Given the description of an element on the screen output the (x, y) to click on. 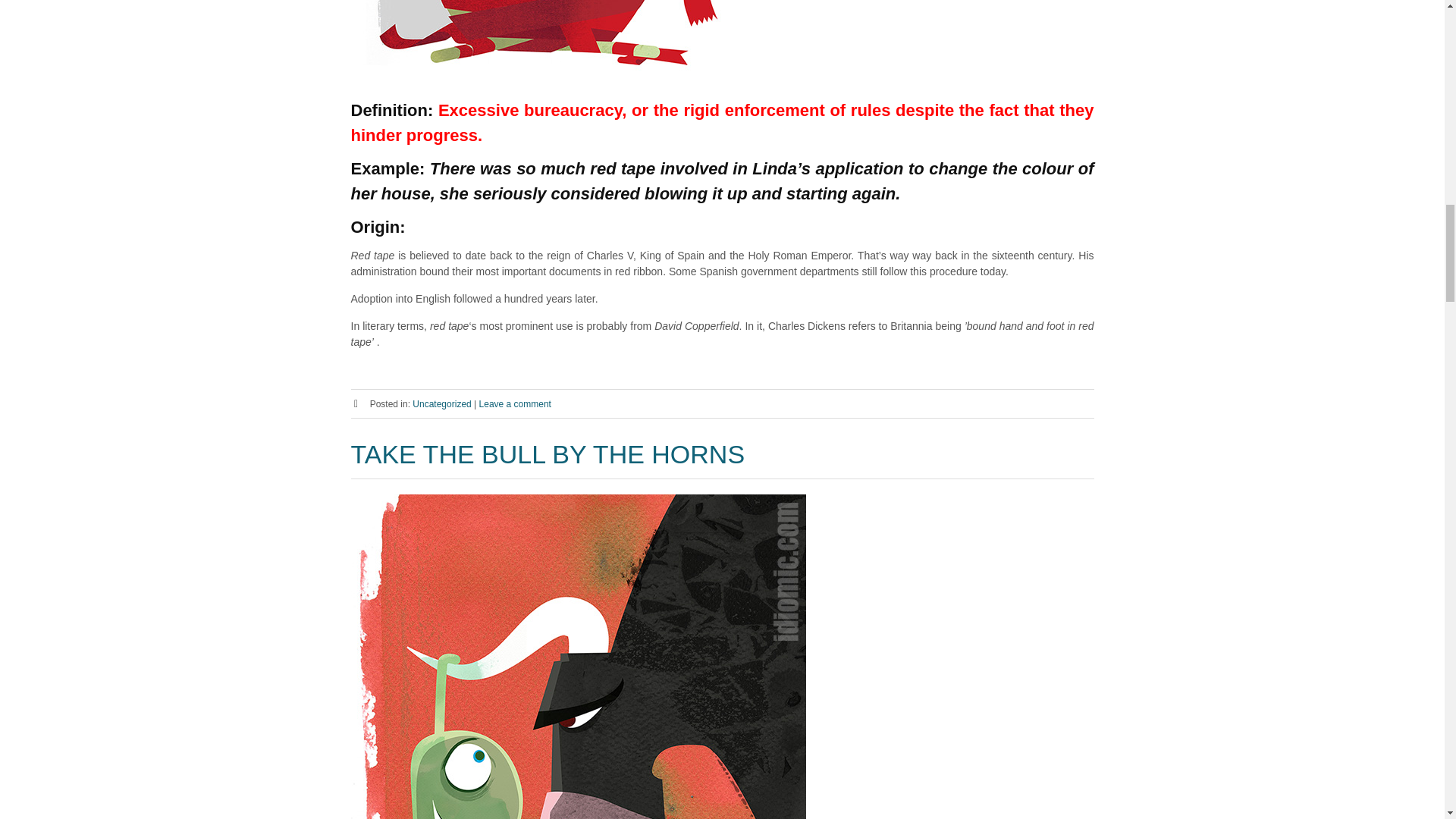
TAKE THE BULL BY THE HORNS (547, 453)
Leave a comment (515, 403)
Uncategorized (441, 403)
